Given the description of an element on the screen output the (x, y) to click on. 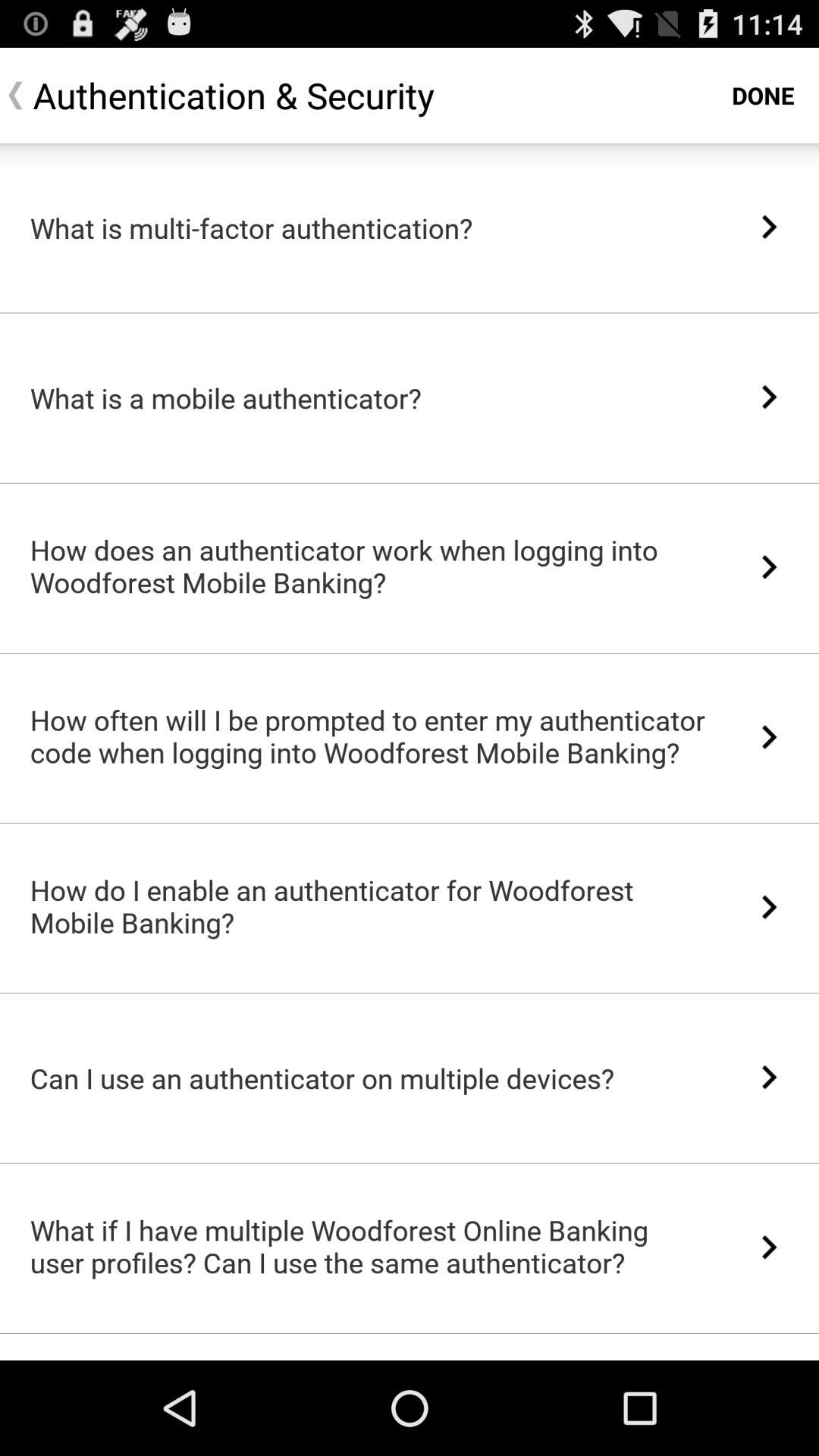
turn off the icon to the right of the can i use (768, 1077)
